Given the description of an element on the screen output the (x, y) to click on. 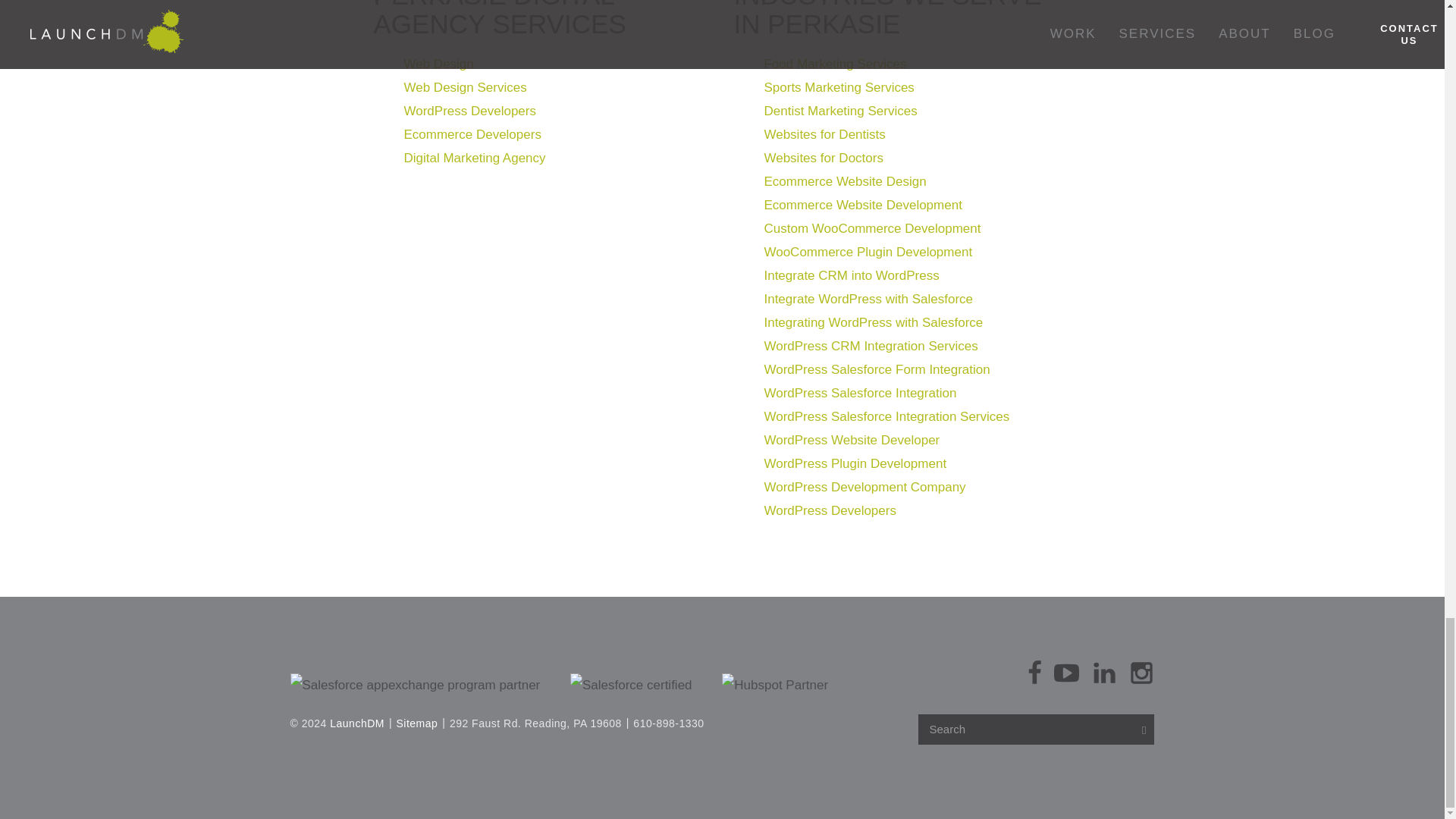
Integrating WordPress with Salesforce (872, 322)
Ecommerce Website Design (844, 181)
Websites for Dentists (823, 134)
Integrate WordPress with Salesforce (867, 298)
Ecommerce Website Development (861, 205)
Web Design Services (464, 87)
Ecommerce Developers (471, 134)
Websites for Doctors   (825, 157)
WordPress Developers (469, 110)
WordPress Salesforce Form Integration (876, 369)
